Given the description of an element on the screen output the (x, y) to click on. 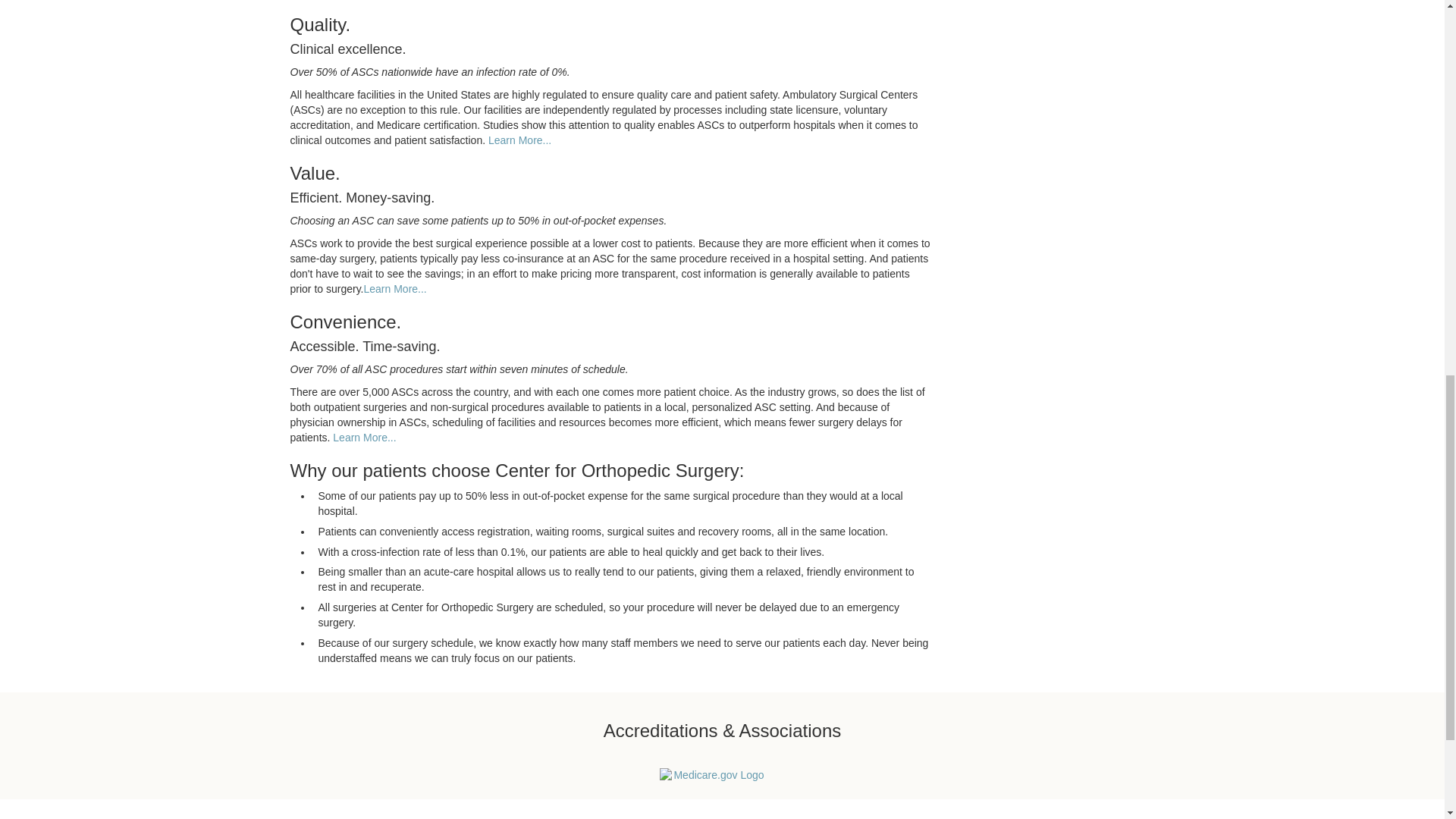
Learn More... (364, 437)
Learn More... (519, 140)
Learn More... (395, 288)
